Given the description of an element on the screen output the (x, y) to click on. 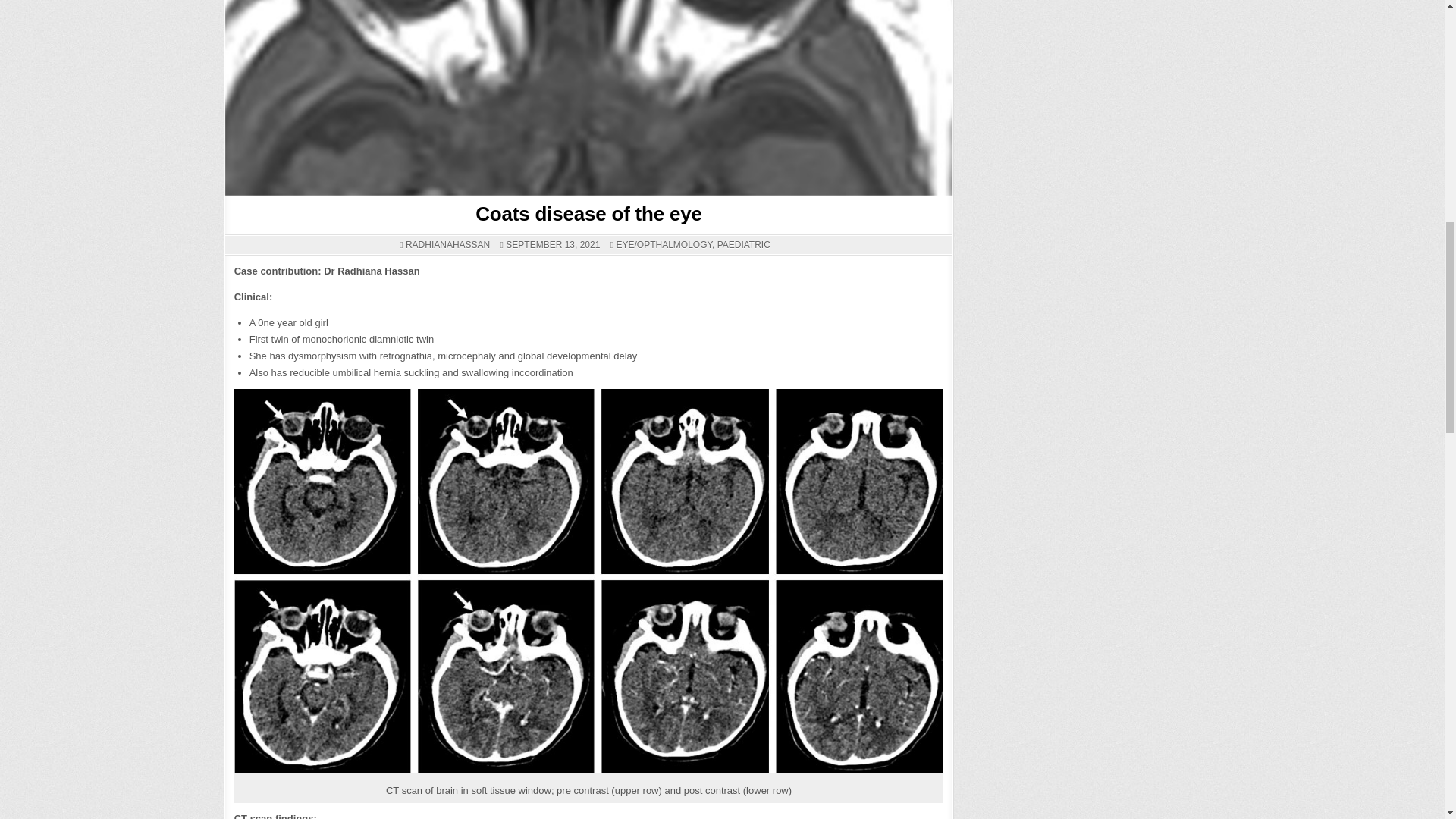
RADHIANAHASSAN (447, 244)
PAEDIATRIC (743, 244)
Coats disease of the eye (588, 213)
